Given the description of an element on the screen output the (x, y) to click on. 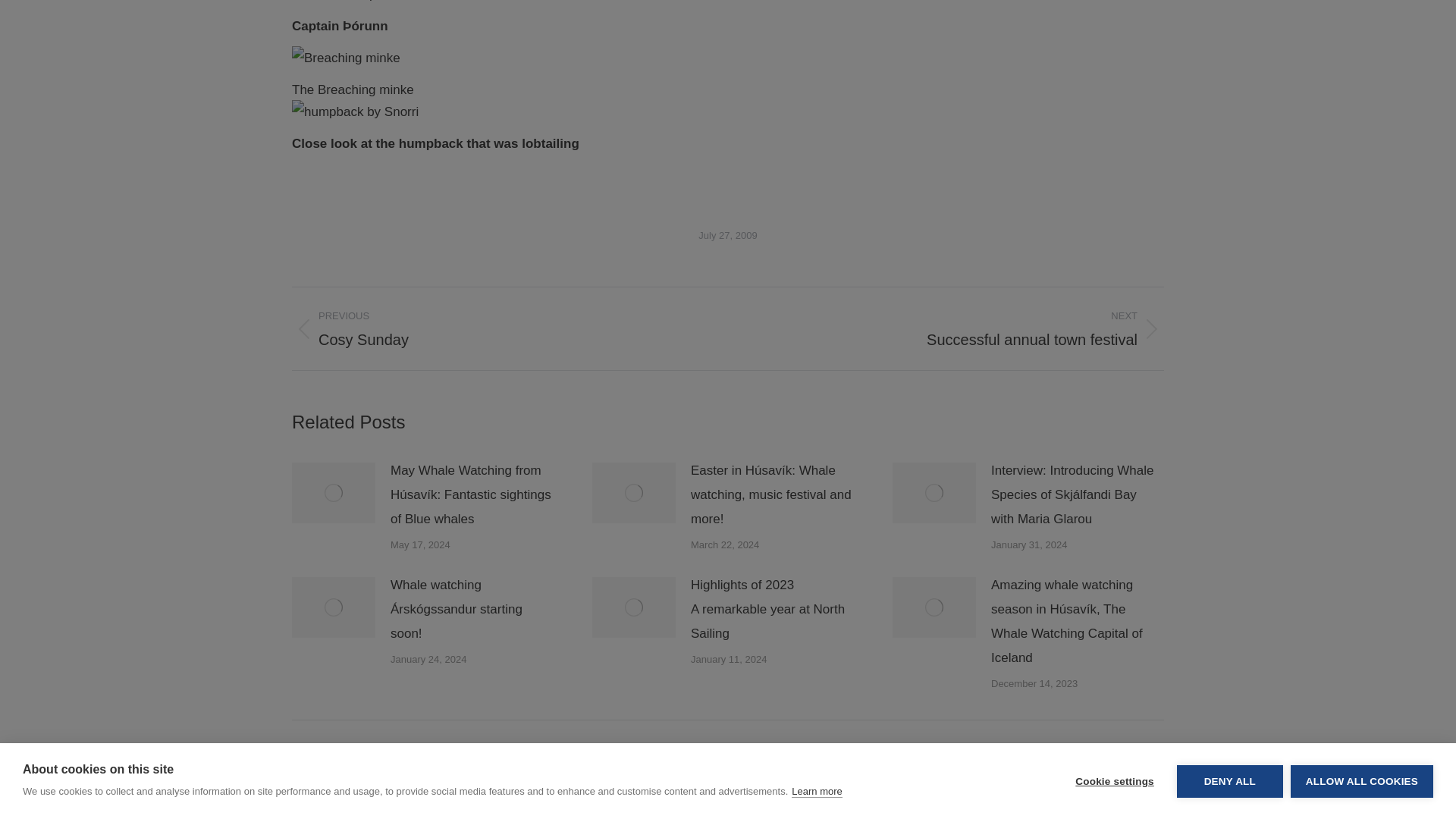
DENY ALL (1229, 277)
Thorunn captain (344, 3)
Cookie settings (1114, 286)
20:39 (727, 235)
ALLOW ALL COOKIES (1361, 264)
